Given the description of an element on the screen output the (x, y) to click on. 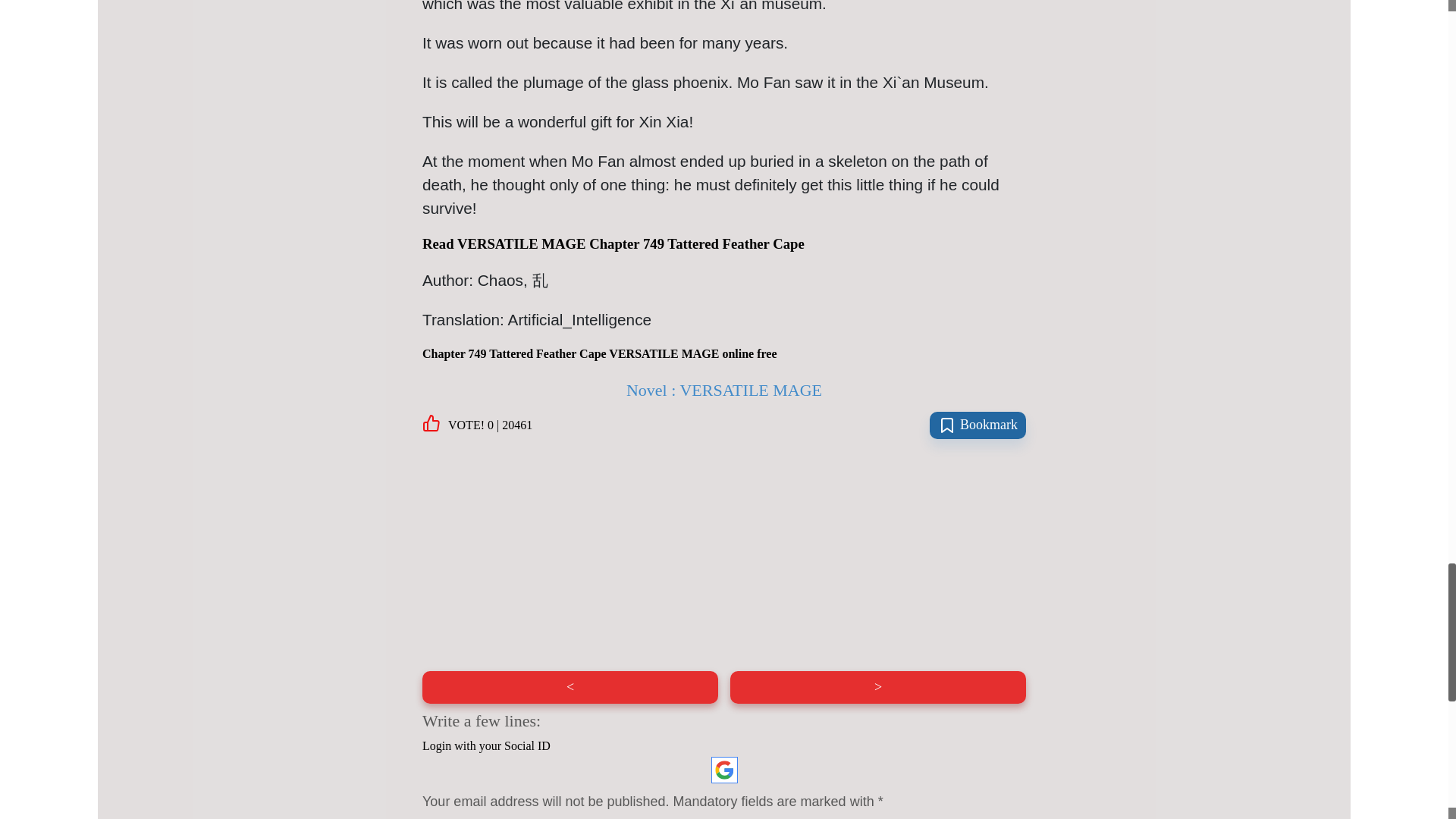
Liked 20461 people - JOIN! (477, 424)
Login with Google (724, 769)
Novel : VERSATILE MAGE (724, 390)
